Given the description of an element on the screen output the (x, y) to click on. 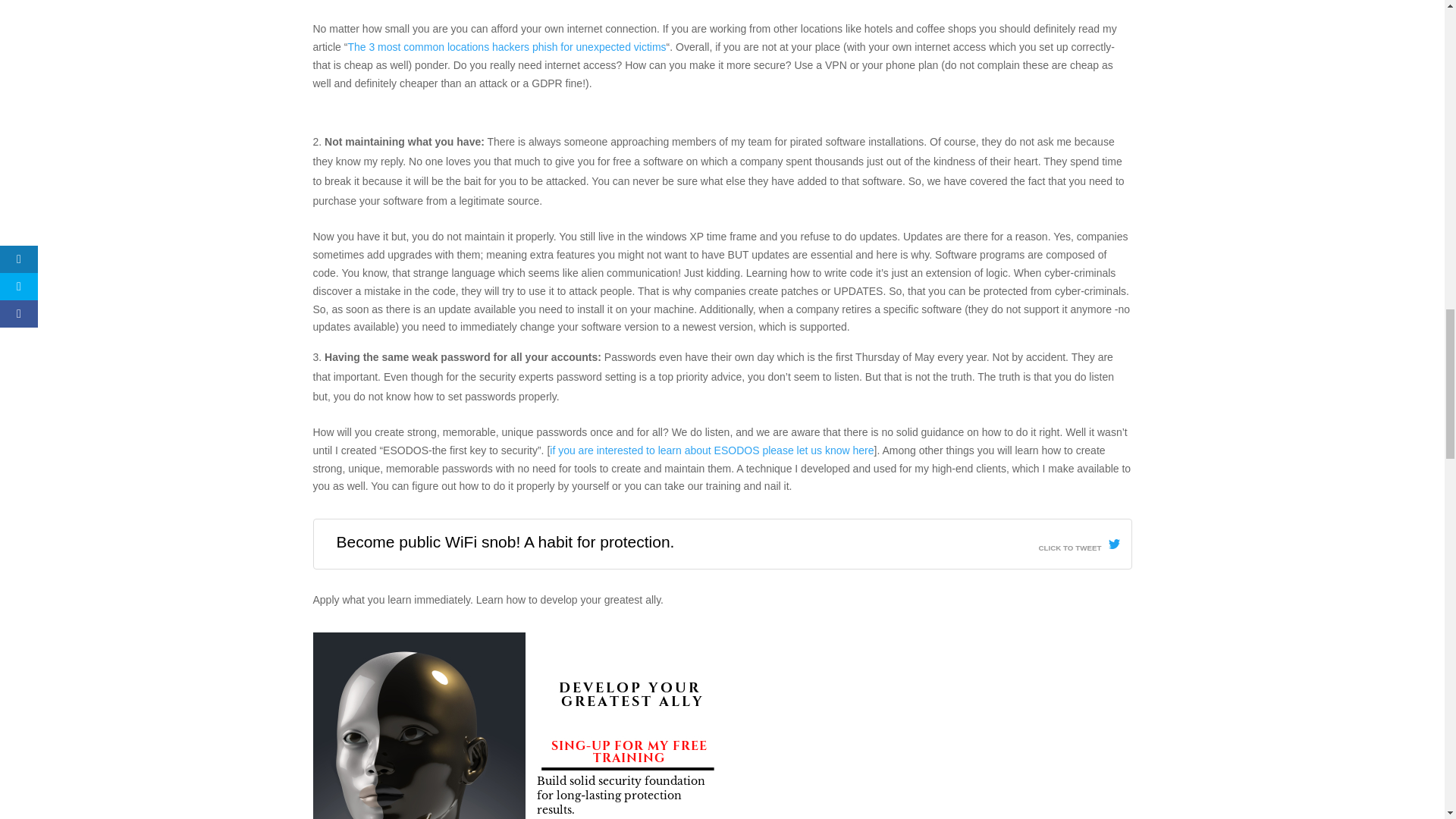
Become public WiFi snob! A habit for protection. (505, 541)
CLICK TO TWEET (1078, 543)
